Given the description of an element on the screen output the (x, y) to click on. 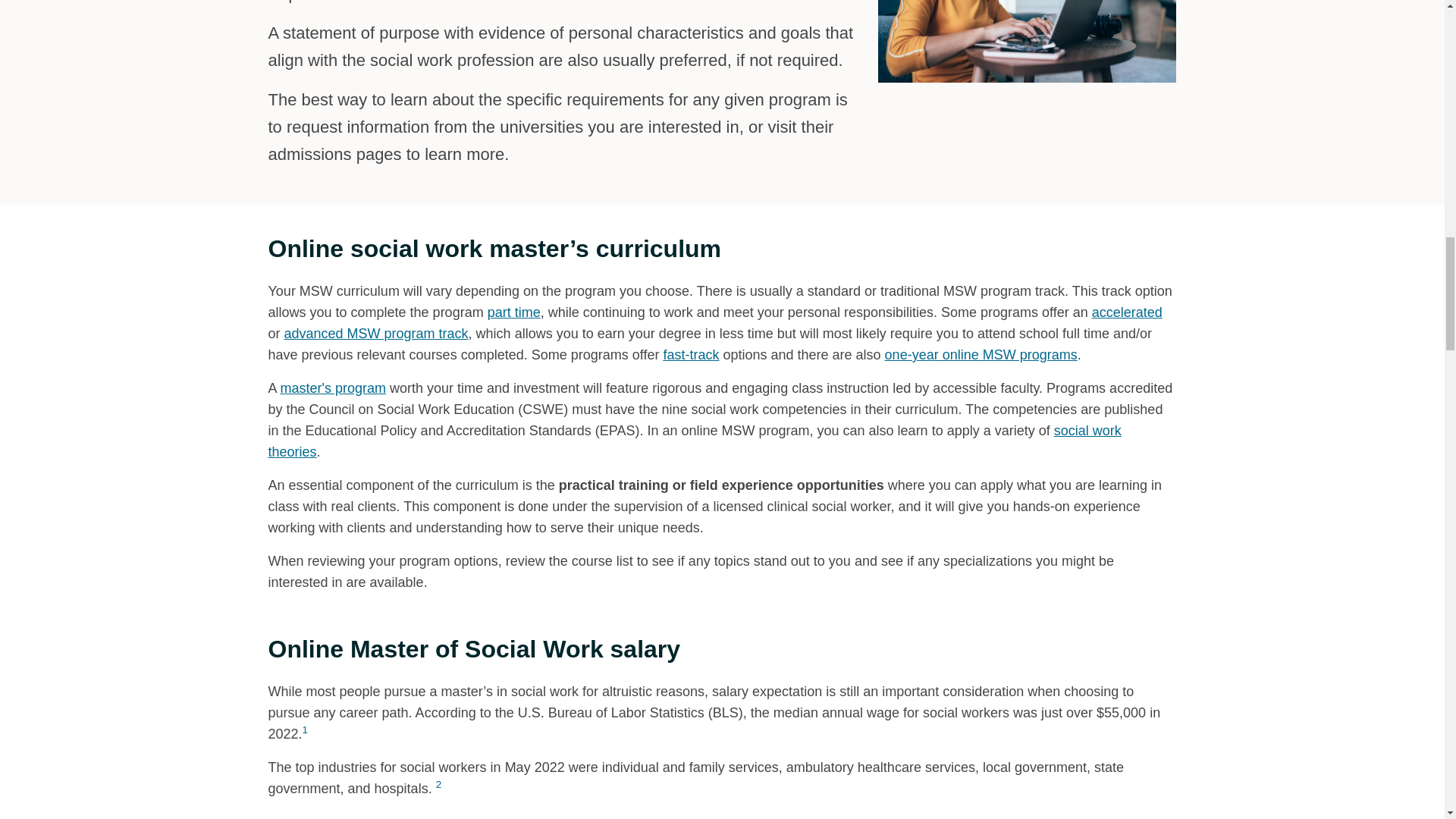
social work theories (694, 441)
part time (513, 312)
accelerated (1126, 312)
fast-track (690, 354)
master's program (333, 387)
advanced MSW program track (375, 333)
one-year online MSW programs (981, 354)
